Given the description of an element on the screen output the (x, y) to click on. 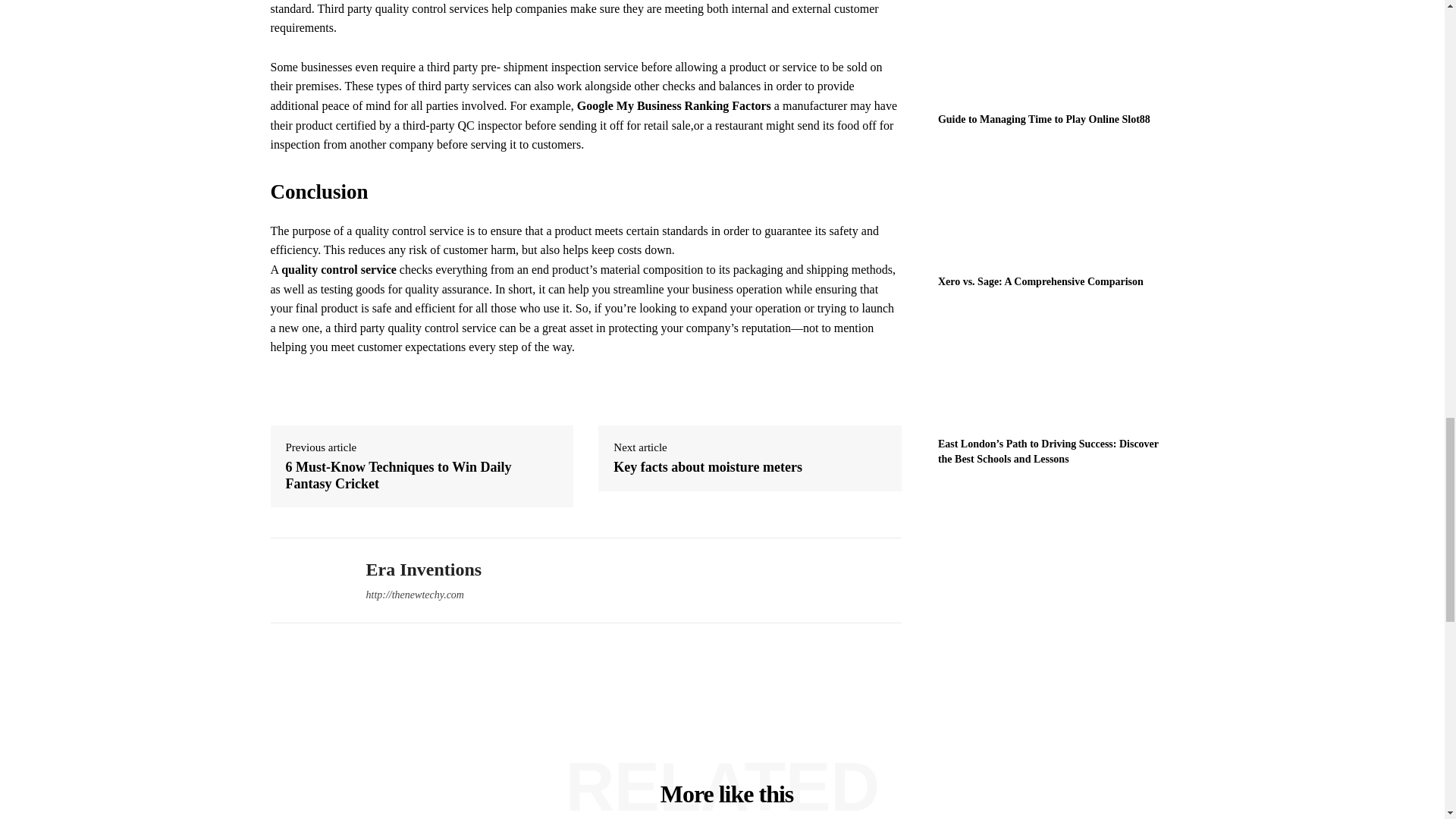
Era Inventions (305, 580)
